Given the description of an element on the screen output the (x, y) to click on. 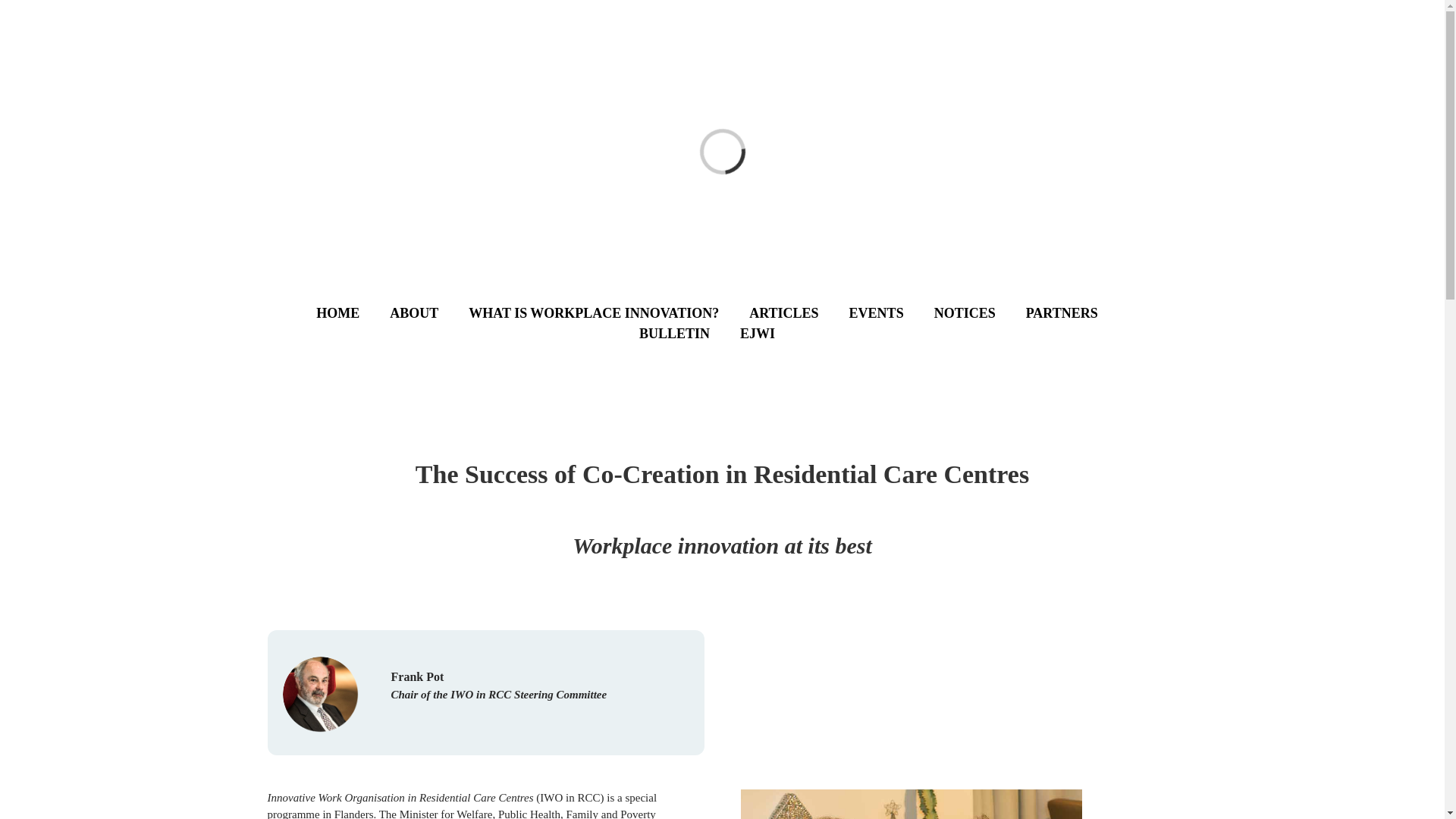
NOTICES (980, 313)
Residential Care Centres (910, 804)
PARTNERS (1077, 313)
Frank-Pot (320, 694)
ARTICLES (798, 313)
WHAT IS WORKPLACE INNOVATION? (608, 313)
EJWI (772, 333)
BULLETIN (689, 333)
ABOUT (429, 313)
HOME (352, 313)
